Given the description of an element on the screen output the (x, y) to click on. 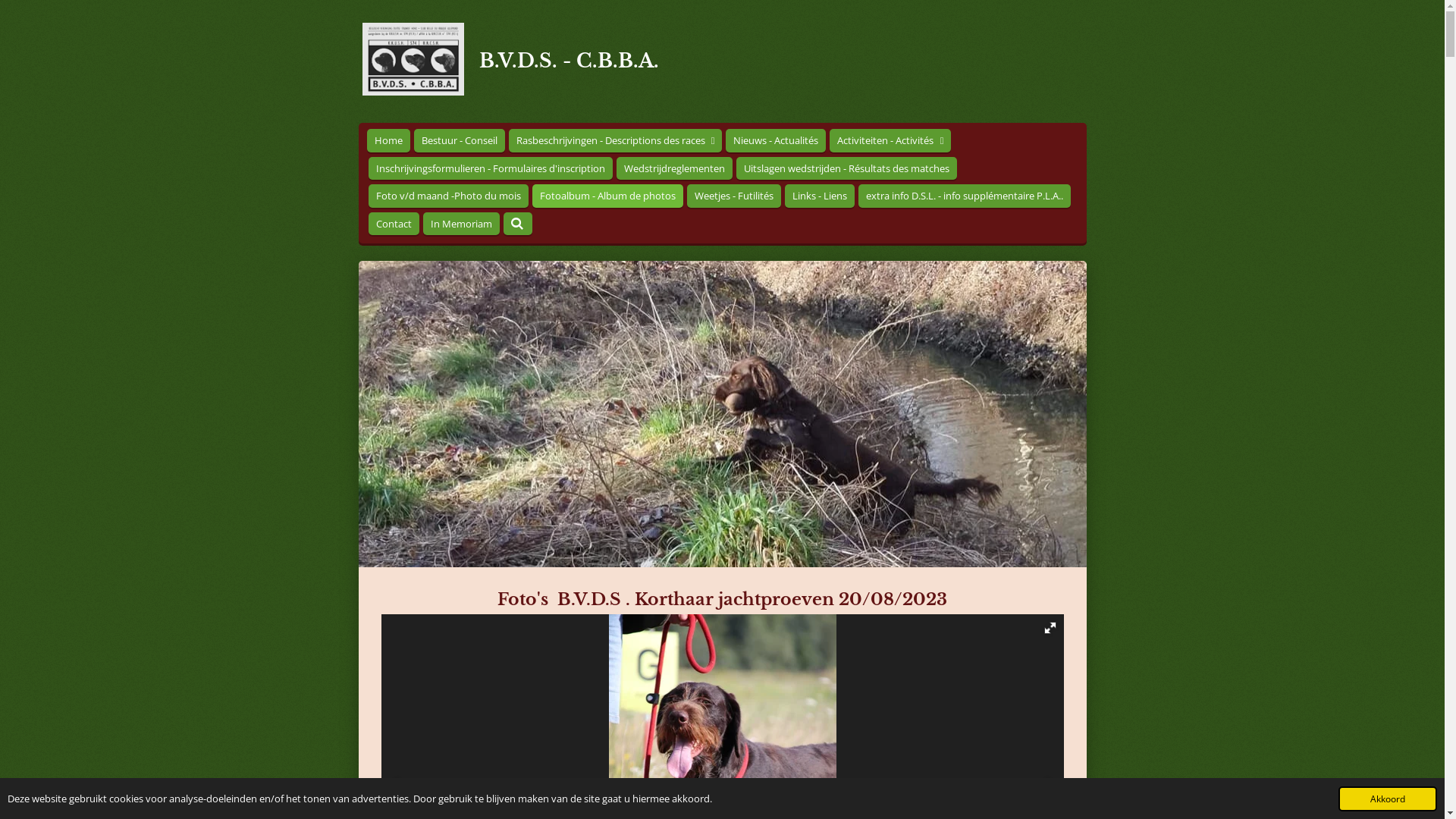
Foto v/d maand -Photo du mois Element type: text (448, 195)
Akkoord Element type: text (1387, 798)
Bestuur - Conseil Element type: text (459, 140)
Inschrijvingsformulieren - Formulaires d'inscription Element type: text (490, 168)
Zoeken Element type: hover (517, 223)
Home Element type: text (388, 140)
Wedstrijdreglementen Element type: text (673, 168)
B.V.D.S. - C.B.B.A. Element type: text (568, 60)
Rasbeschrijvingen - Descriptions des races Element type: text (614, 140)
B.V.D.S. - C.B.B.A. Element type: hover (413, 58)
Fotoalbum - Album de photos Element type: text (607, 195)
In Memoriam Element type: text (461, 223)
Links - Liens Element type: text (818, 195)
Contact Element type: text (393, 223)
